Given the description of an element on the screen output the (x, y) to click on. 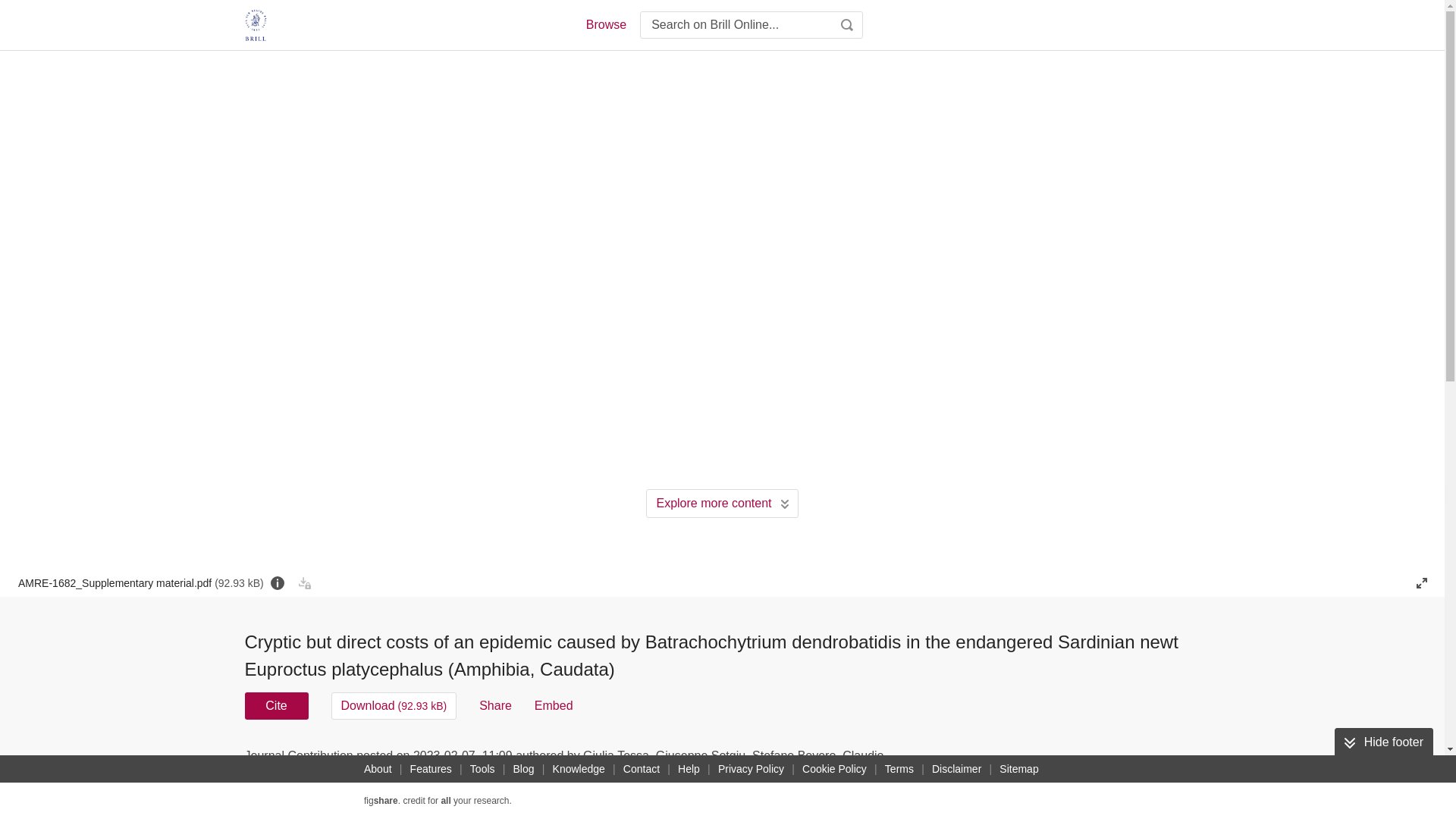
Contact (640, 769)
Knowledge (579, 769)
Browse (605, 24)
Cite (275, 705)
Share (495, 705)
Help (688, 769)
Features (431, 769)
USAGE METRICS (976, 759)
Blog (523, 769)
About (377, 769)
Embed (553, 705)
Tools (482, 769)
Explore more content (721, 502)
Hide footer (1383, 742)
